Given the description of an element on the screen output the (x, y) to click on. 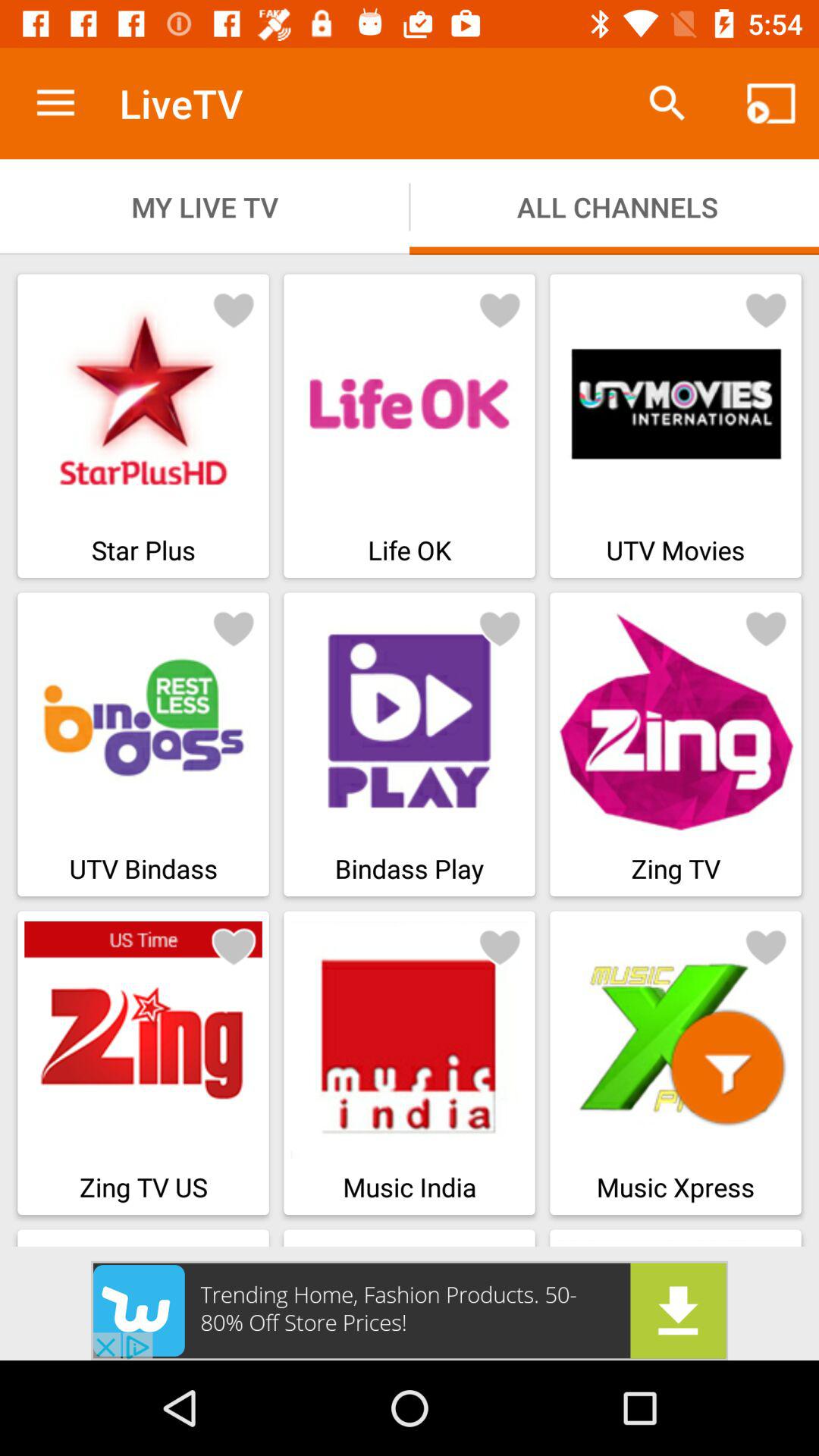
like button (233, 946)
